Given the description of an element on the screen output the (x, y) to click on. 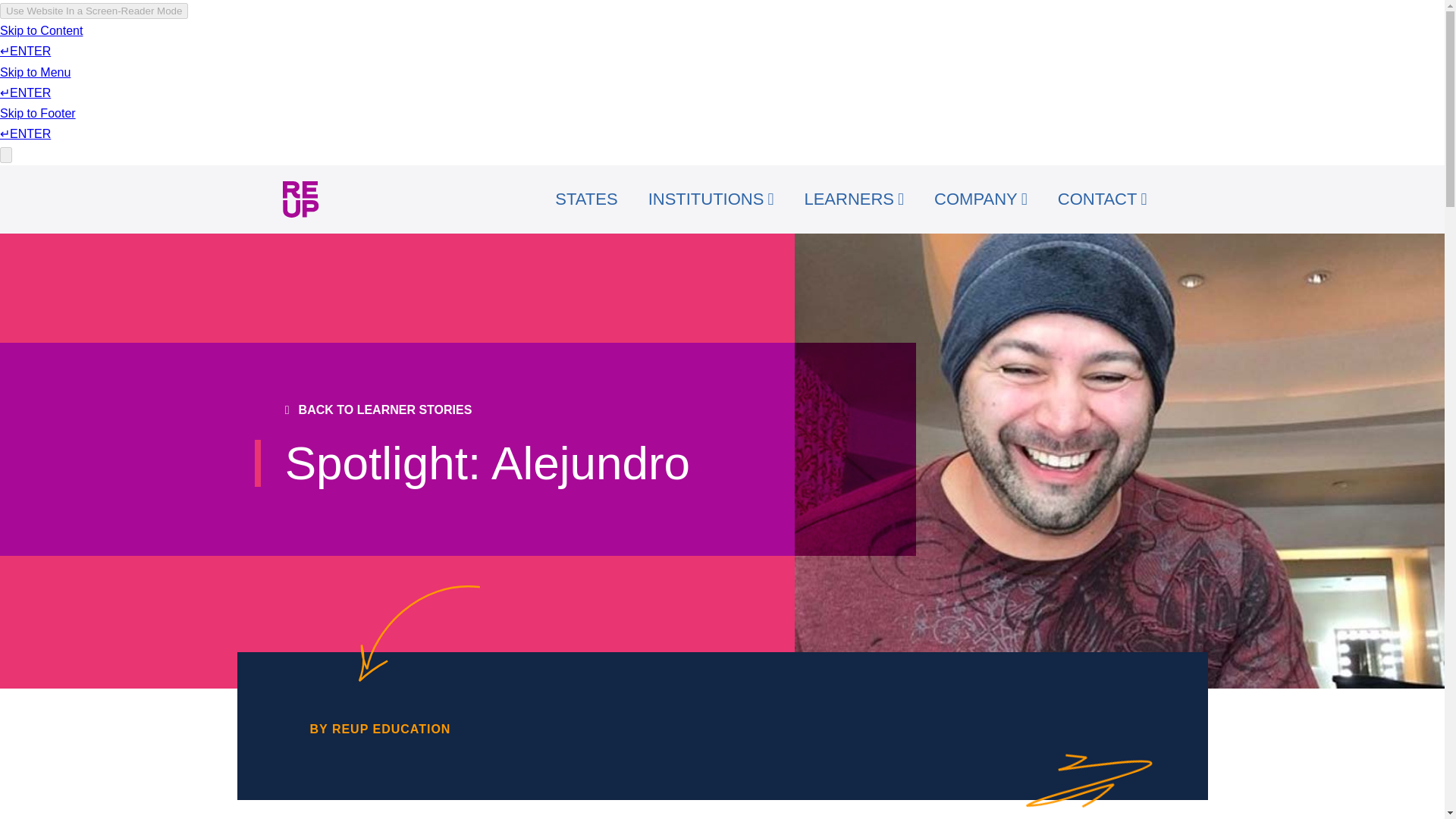
LEARNERS (853, 199)
INSTITUTIONS (711, 199)
ReUp Education (300, 198)
CONTACT (1101, 199)
STATES (585, 199)
COMPANY (980, 199)
